Given the description of an element on the screen output the (x, y) to click on. 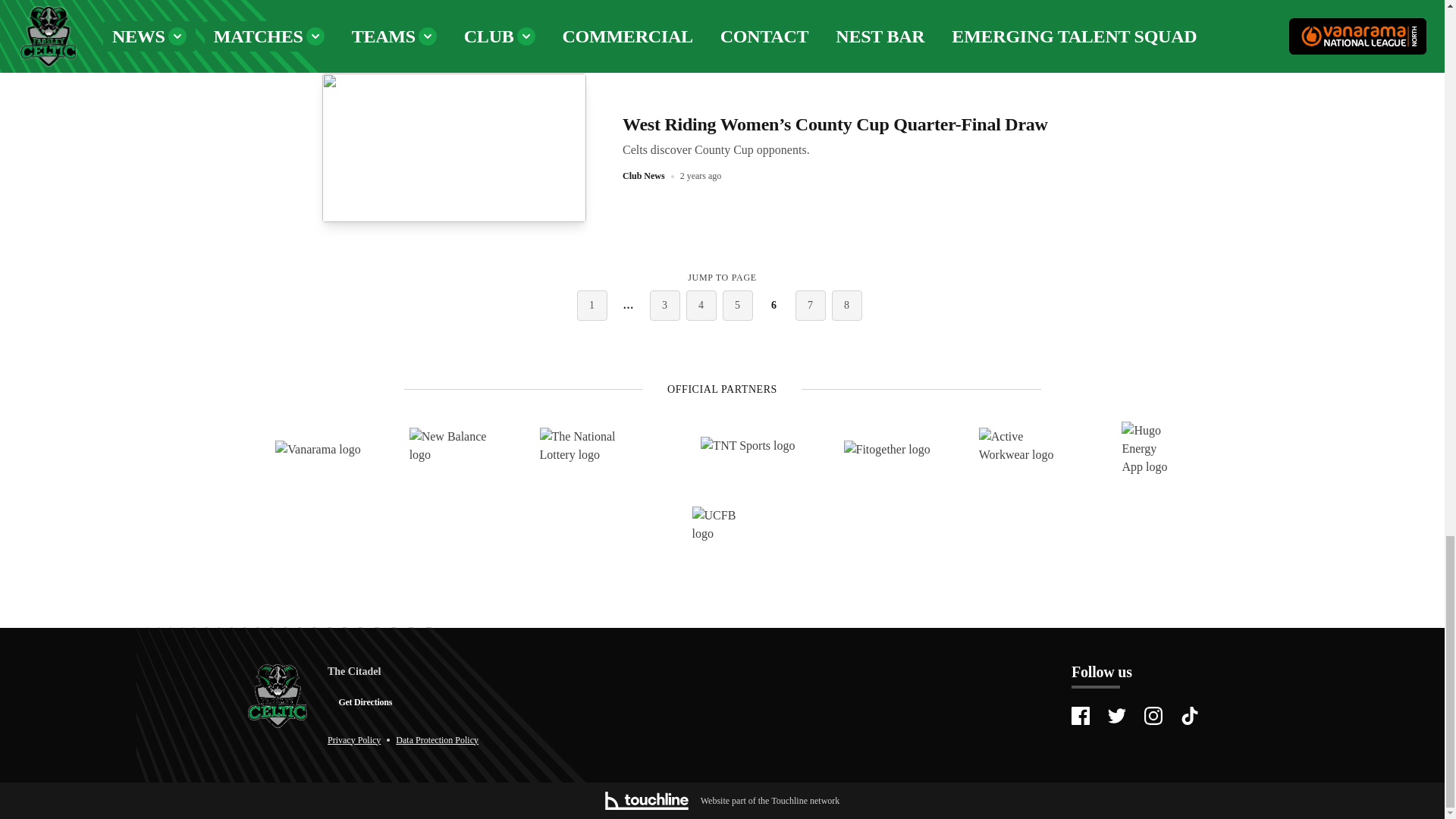
Find us on Facebook (1080, 715)
Find us on Instagram (1152, 715)
Find us on TikTok (1189, 715)
Find us on Twitter (1116, 715)
